Given the description of an element on the screen output the (x, y) to click on. 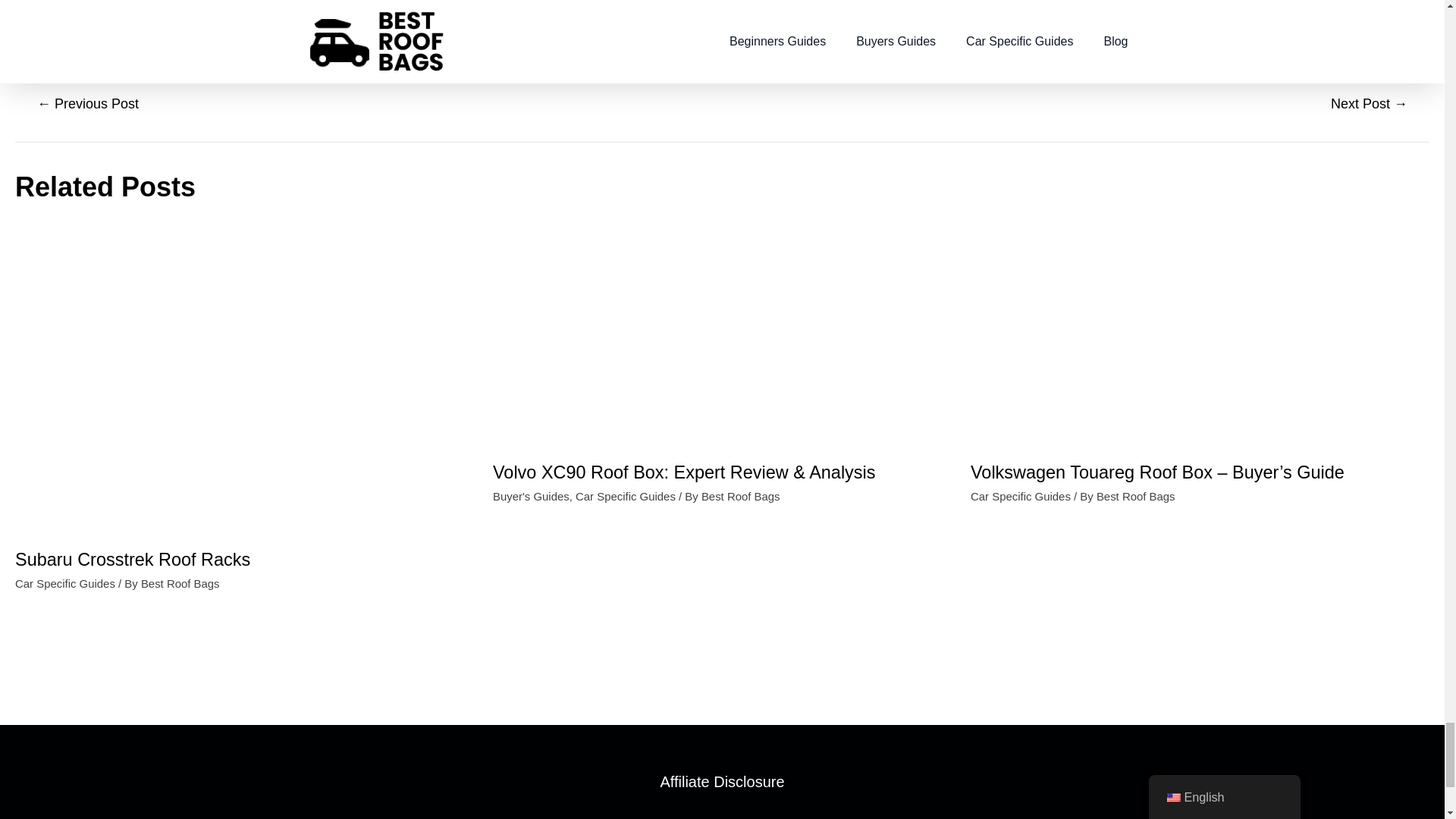
View all posts by Best Roof Bags (1135, 495)
View all posts by Best Roof Bags (180, 582)
View all posts by Best Roof Bags (740, 495)
